Given the description of an element on the screen output the (x, y) to click on. 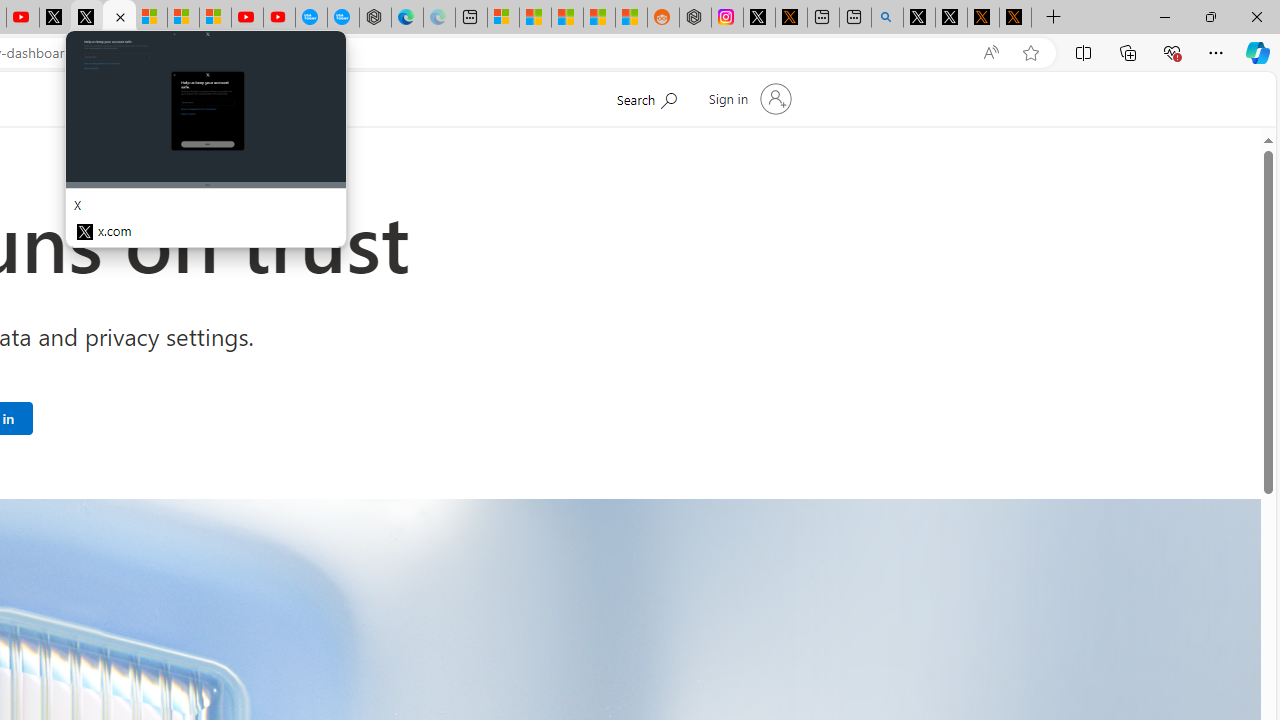
Sign in to your account (748, 98)
Log in to X / X (758, 17)
Shanghai, China Weather trends | Microsoft Weather (630, 17)
